Given the description of an element on the screen output the (x, y) to click on. 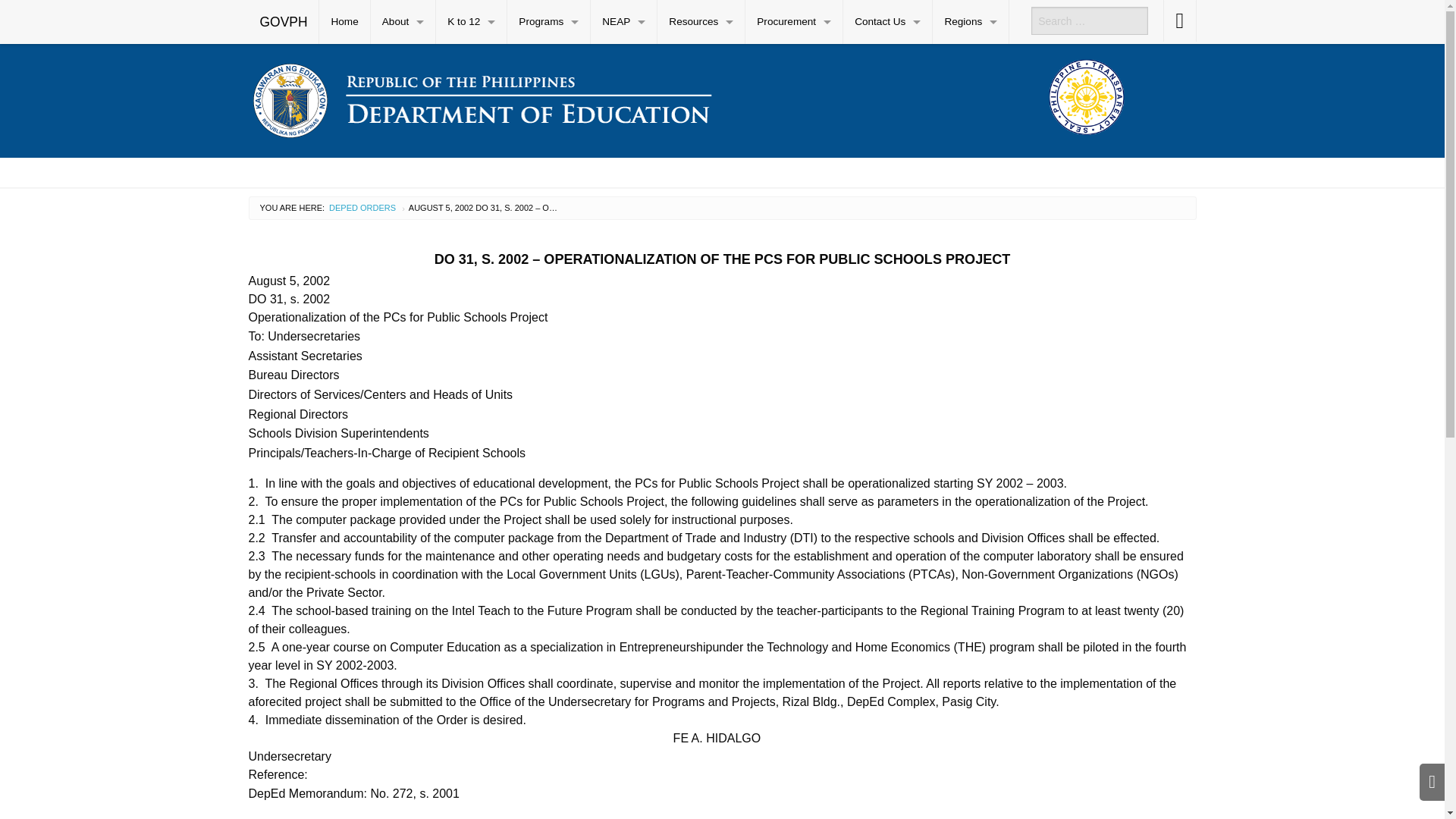
Search for: (1089, 20)
Transparency Seal (1086, 96)
Department of Education (481, 97)
